Given the description of an element on the screen output the (x, y) to click on. 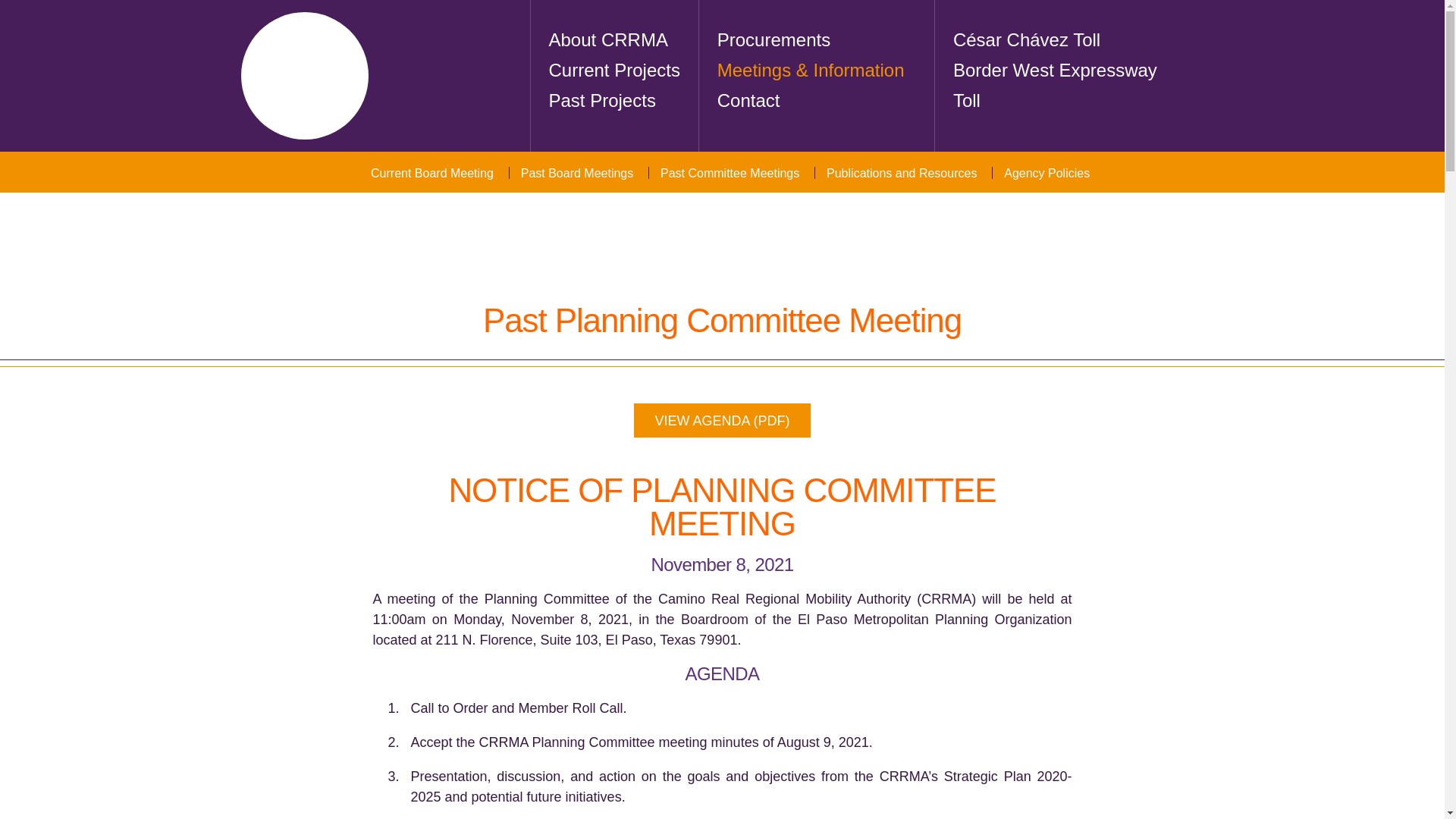
homepage (304, 75)
Past Projects (623, 100)
Past Board Meetings (572, 173)
Border West Expressway Toll (1069, 70)
Agency Policies (1042, 173)
Current Board Meeting (427, 173)
Publications and Resources (896, 173)
About CRRMA (623, 40)
Contact (819, 100)
Past Committee Meetings (725, 173)
